Given the description of an element on the screen output the (x, y) to click on. 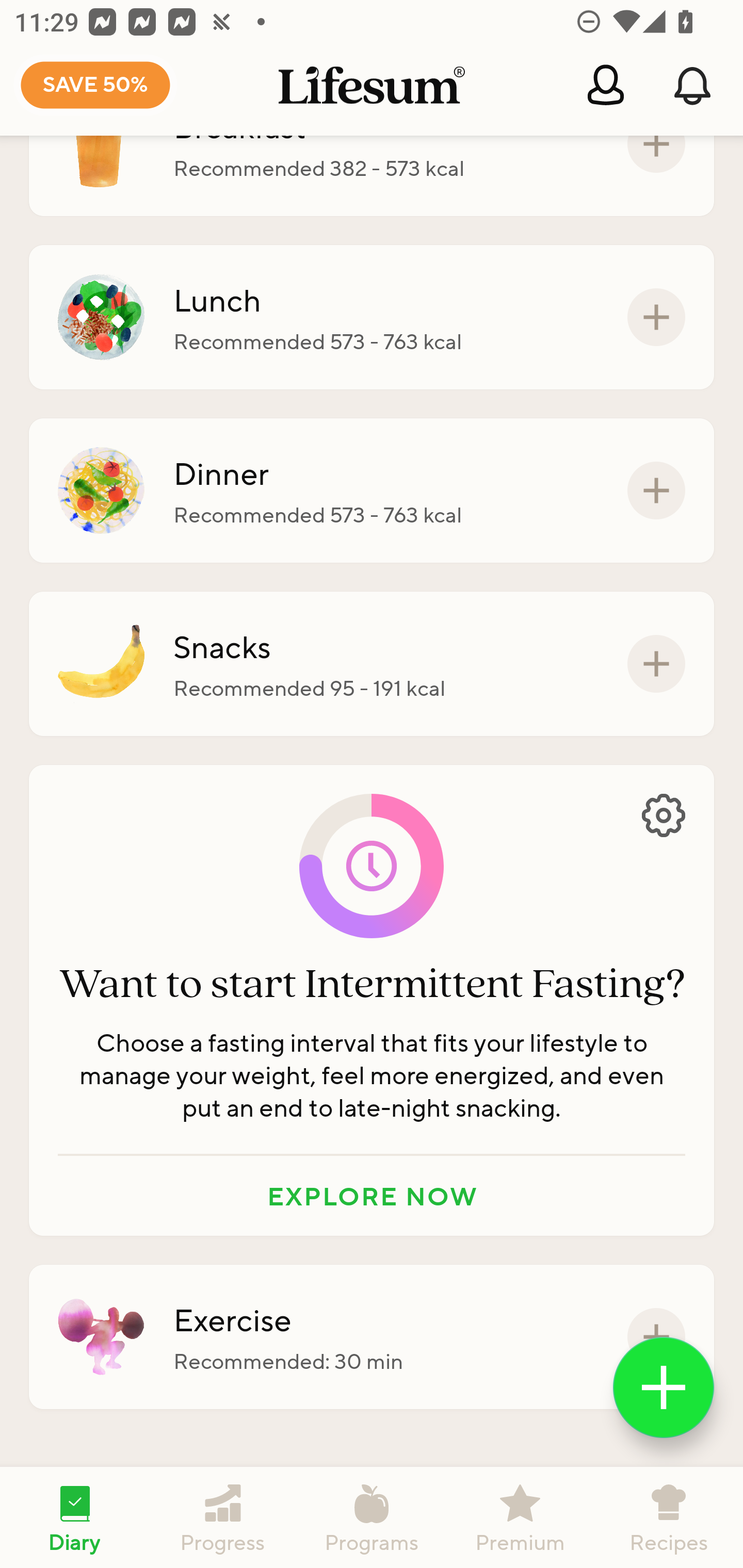
Lunch Recommended 573 - 763 kcal (371, 316)
Dinner Recommended 573 - 763 kcal (371, 490)
Snacks Recommended 95 - 191 kcal (371, 663)
EXPLORE NOW (371, 1195)
Exercise Recommended: 30 min (371, 1337)
Progress (222, 1517)
Programs (371, 1517)
Premium (519, 1517)
Recipes (668, 1517)
